Given the description of an element on the screen output the (x, y) to click on. 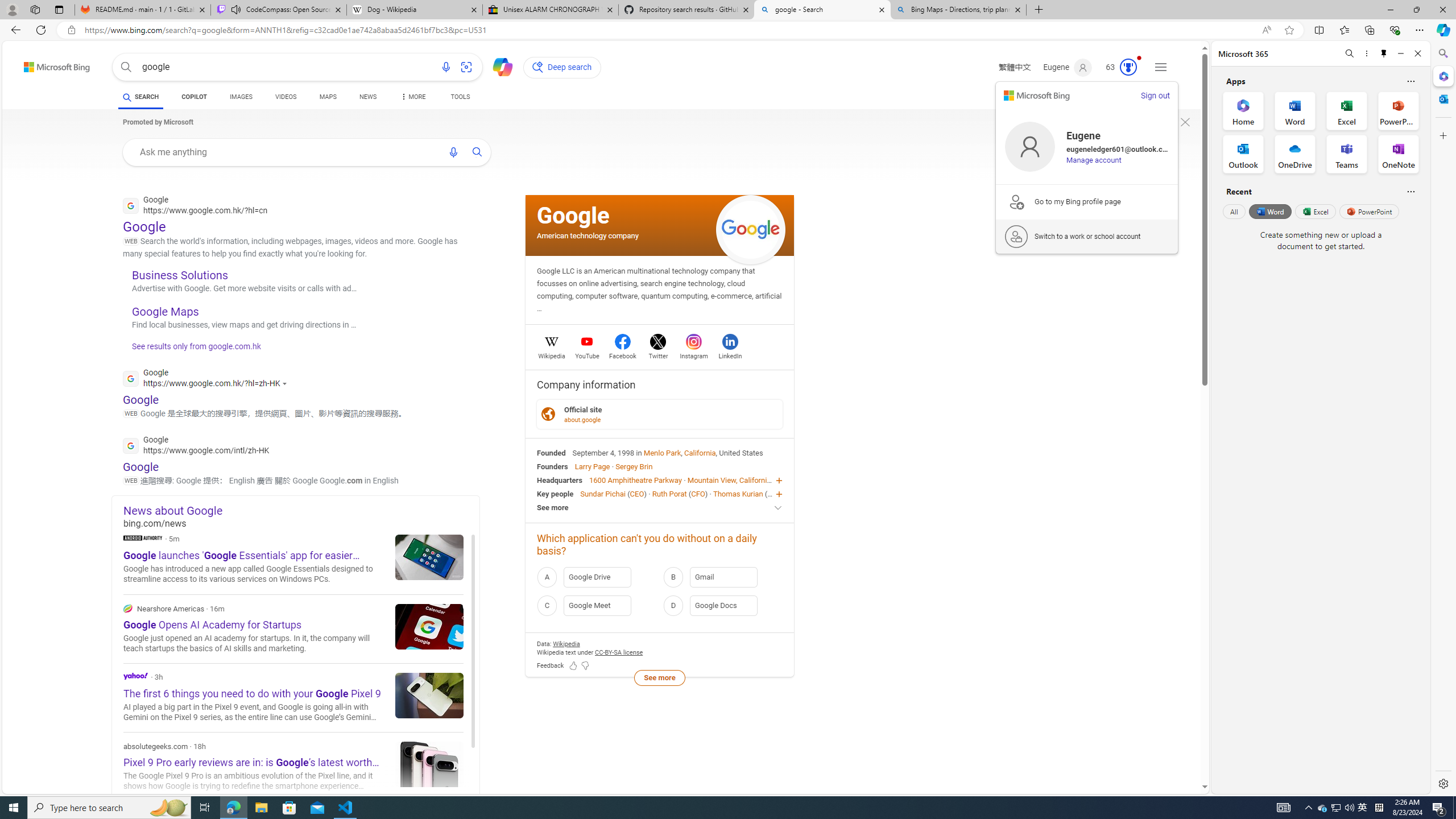
OneNote Office App (1398, 154)
Sign out (1155, 95)
See more images of Google (751, 229)
CC-BY-SA license (619, 652)
Teams Office App (1346, 154)
Microsoft Rewards 54 (1118, 67)
Official Site Official site about.google (659, 413)
CFO (697, 492)
Larry Page (592, 465)
COPILOT (193, 98)
See more (660, 507)
